Given the description of an element on the screen output the (x, y) to click on. 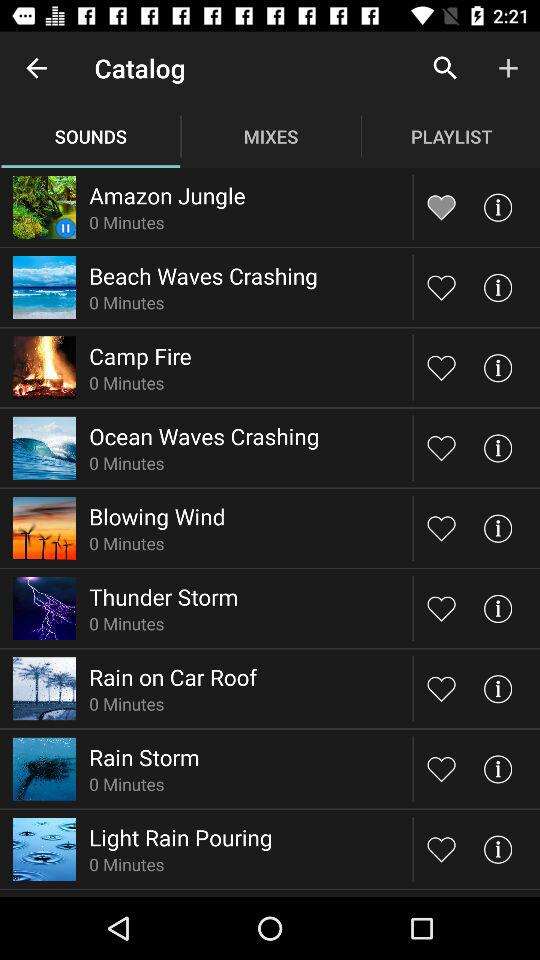
more information (498, 527)
